Given the description of an element on the screen output the (x, y) to click on. 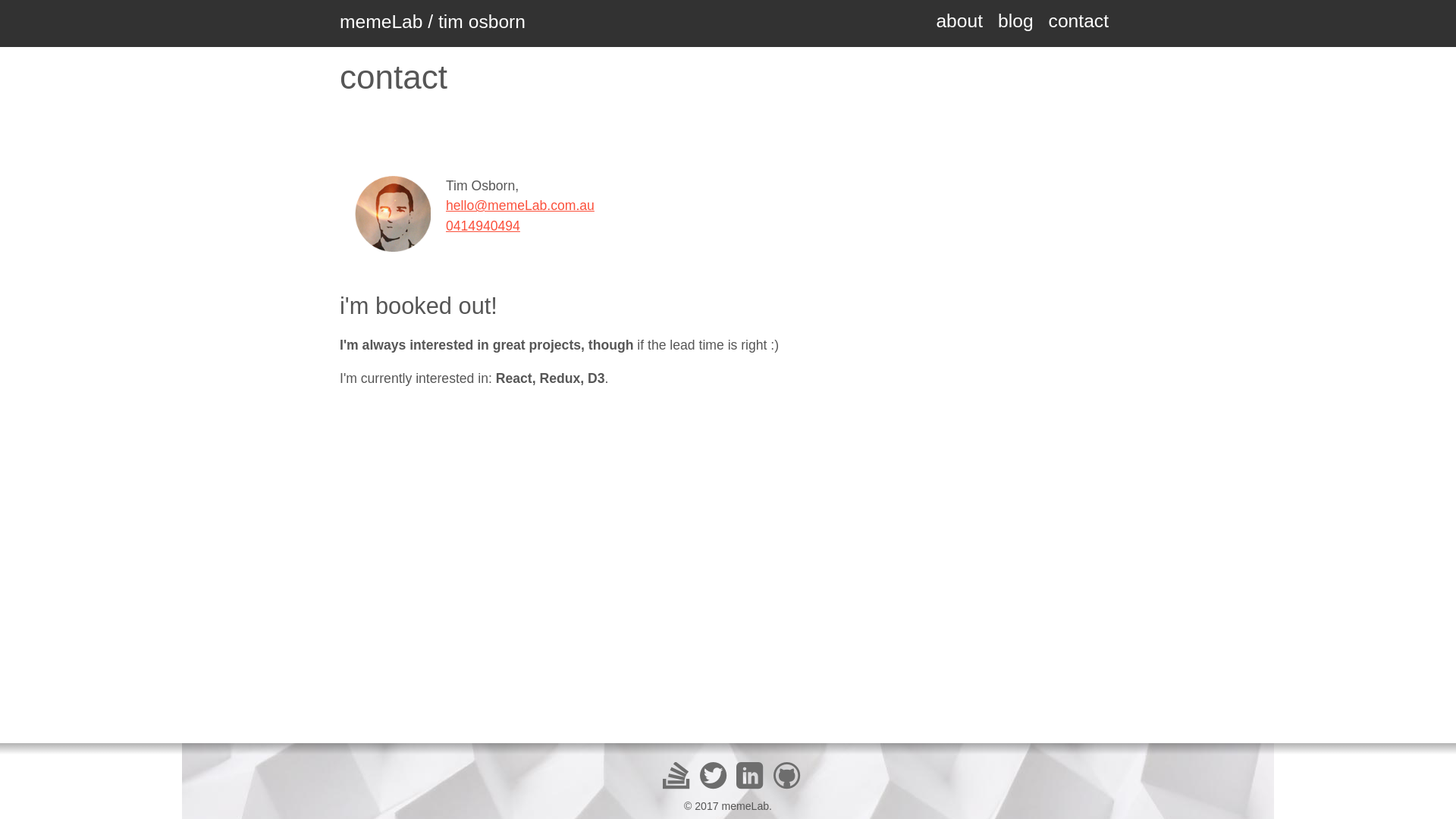
Twitter Element type: hover (712, 775)
0414940494 Element type: text (482, 225)
memeLab / tim osborn Element type: text (432, 21)
blog Element type: text (1015, 21)
Github Element type: hover (786, 775)
Linked In Element type: hover (749, 775)
hello@memeLab.com.au Element type: text (519, 205)
about Element type: text (959, 21)
Stack Overflow Element type: hover (675, 775)
contact Element type: text (1078, 21)
